Given the description of an element on the screen output the (x, y) to click on. 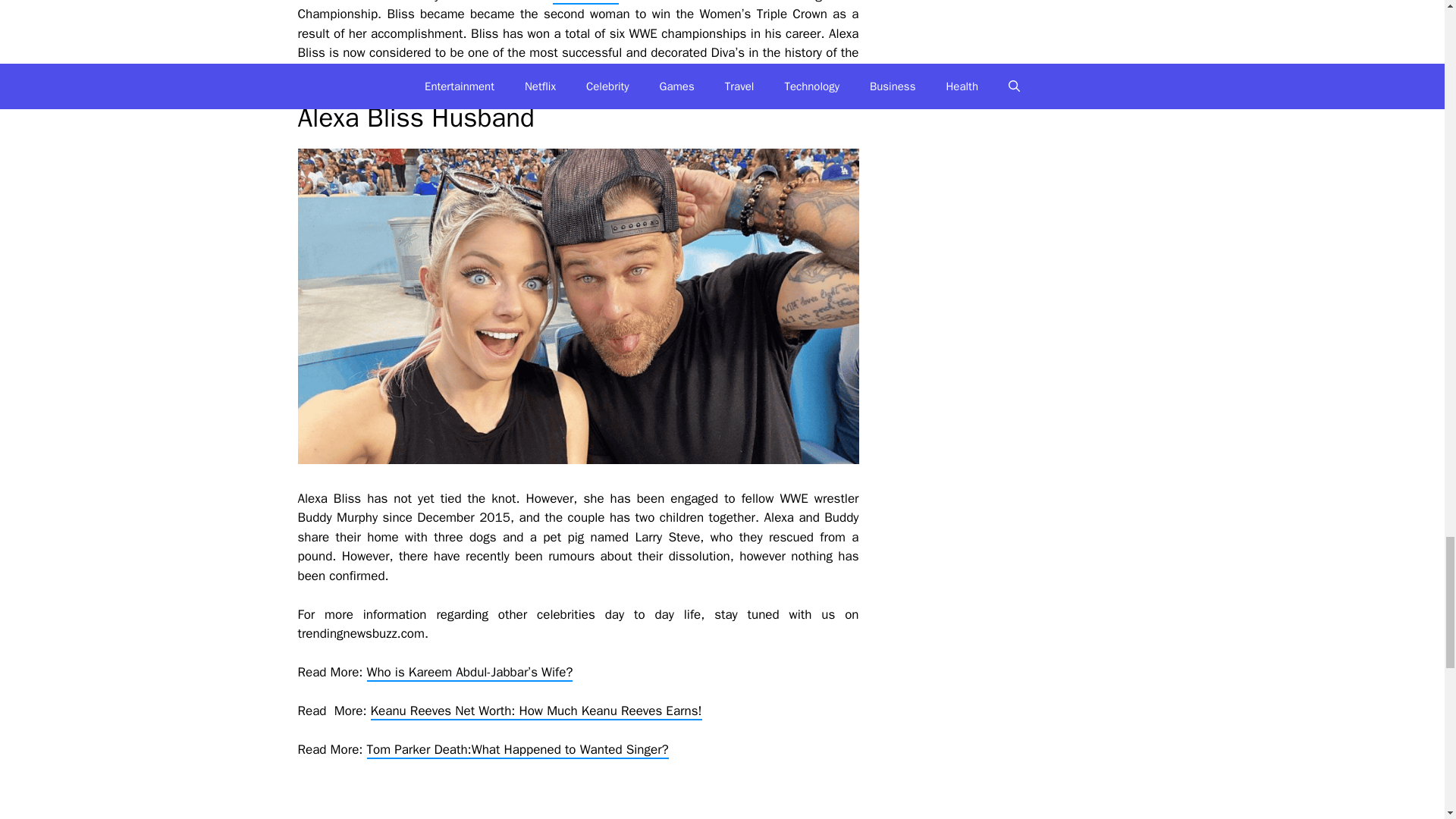
Nikki Cross (585, 2)
Tom Parker Death:What Happened to Wanted Singer? (517, 750)
Keanu Reeves Net Worth: How Much Keanu Reeves Earns! (536, 711)
